Given the description of an element on the screen output the (x, y) to click on. 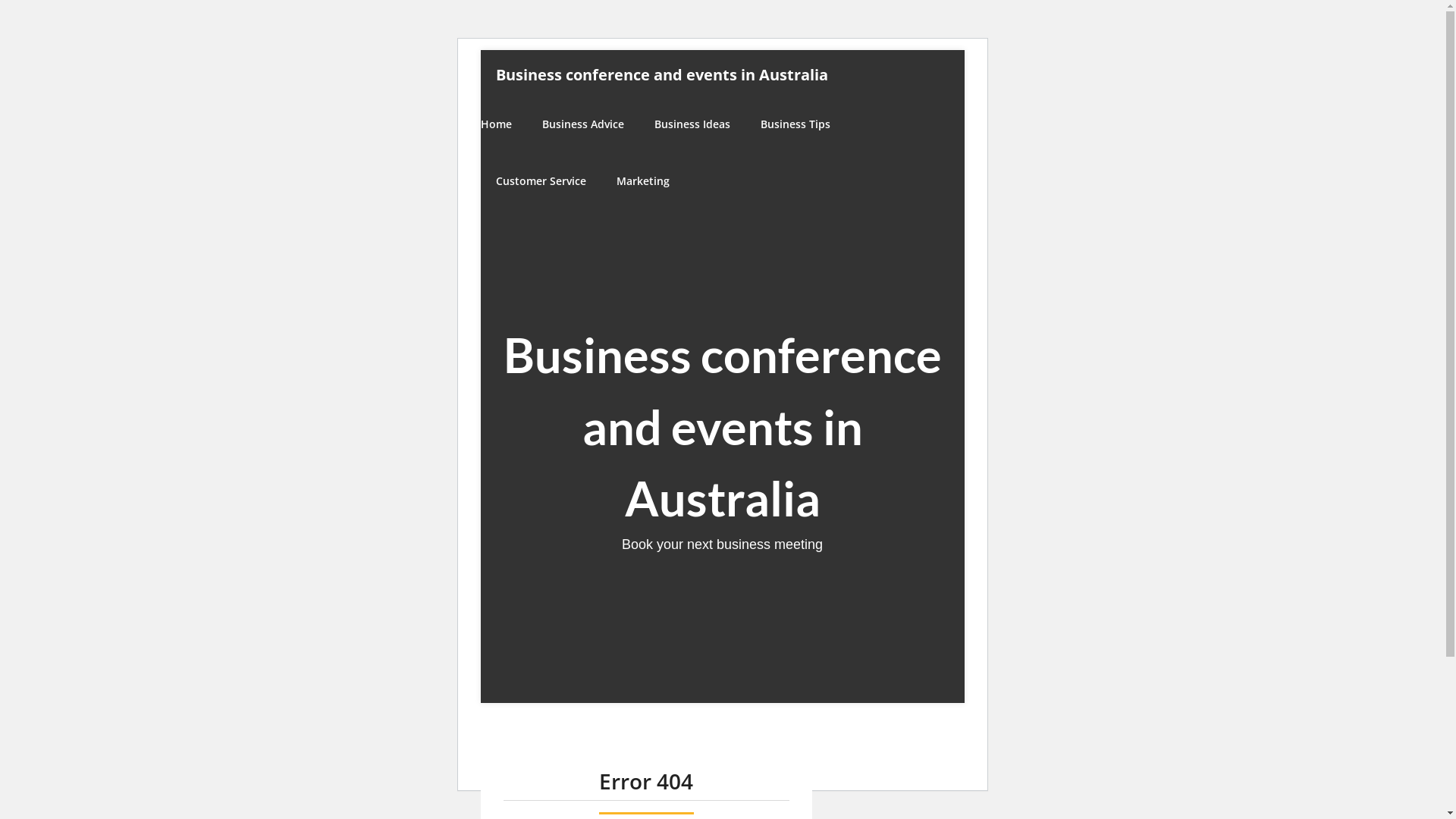
Business conference and events in Australia Element type: text (661, 74)
Skip to content Element type: text (479, 49)
Business Advice Element type: text (582, 123)
Business Tips Element type: text (794, 123)
Customer Service Element type: text (540, 180)
Marketing Element type: text (642, 180)
Business Ideas Element type: text (691, 123)
Home Element type: text (503, 123)
